Given the description of an element on the screen output the (x, y) to click on. 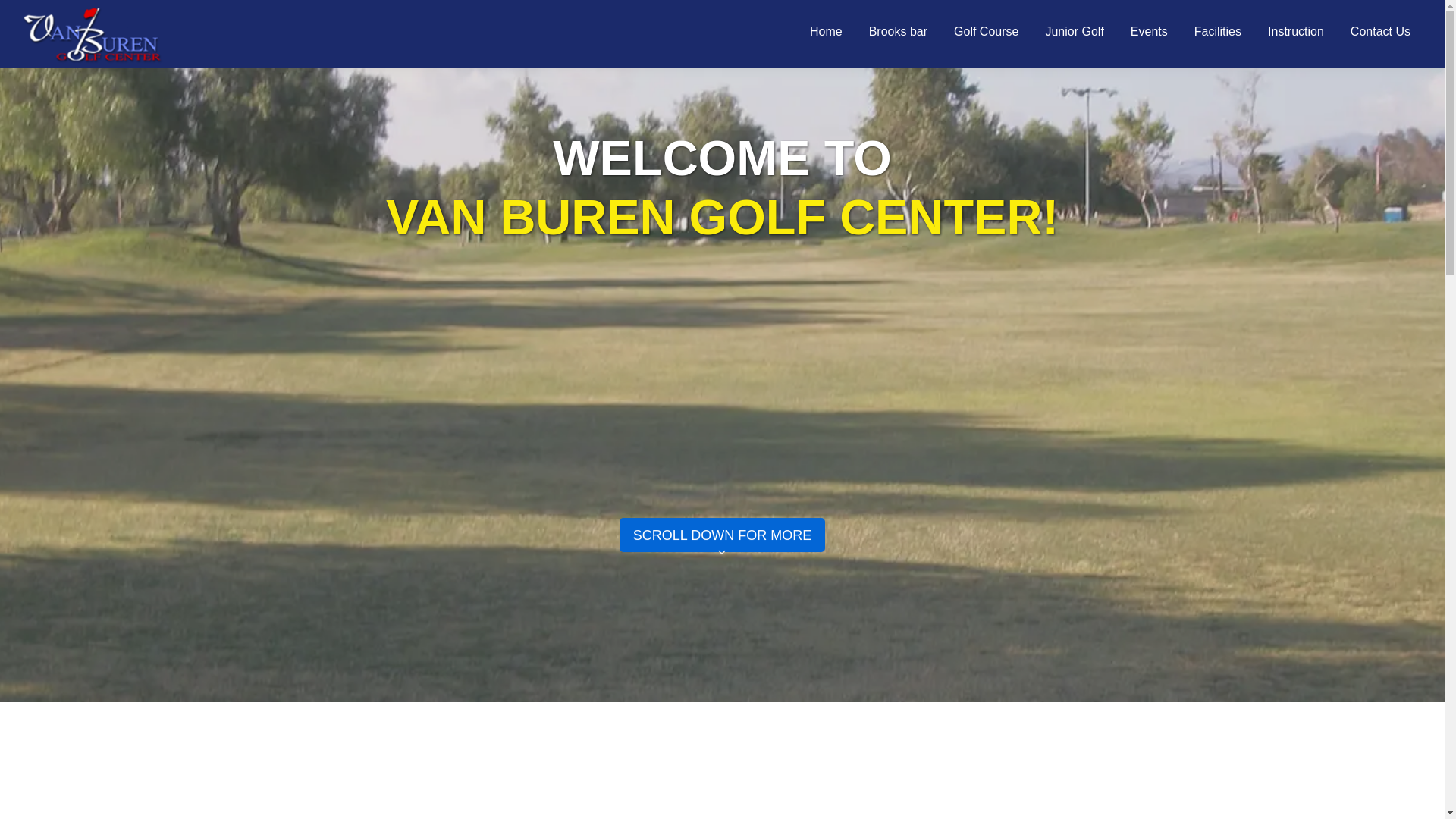
Instruction (1295, 30)
SCROLL DOWN FOR MORE (722, 546)
Brooks bar (898, 30)
Junior Golf (1074, 30)
Golf Course (985, 30)
Facilities (1217, 30)
Contact Us (1380, 30)
Events (1149, 30)
Home (825, 30)
SCROLL DOWN FOR MORE (722, 549)
